Given the description of an element on the screen output the (x, y) to click on. 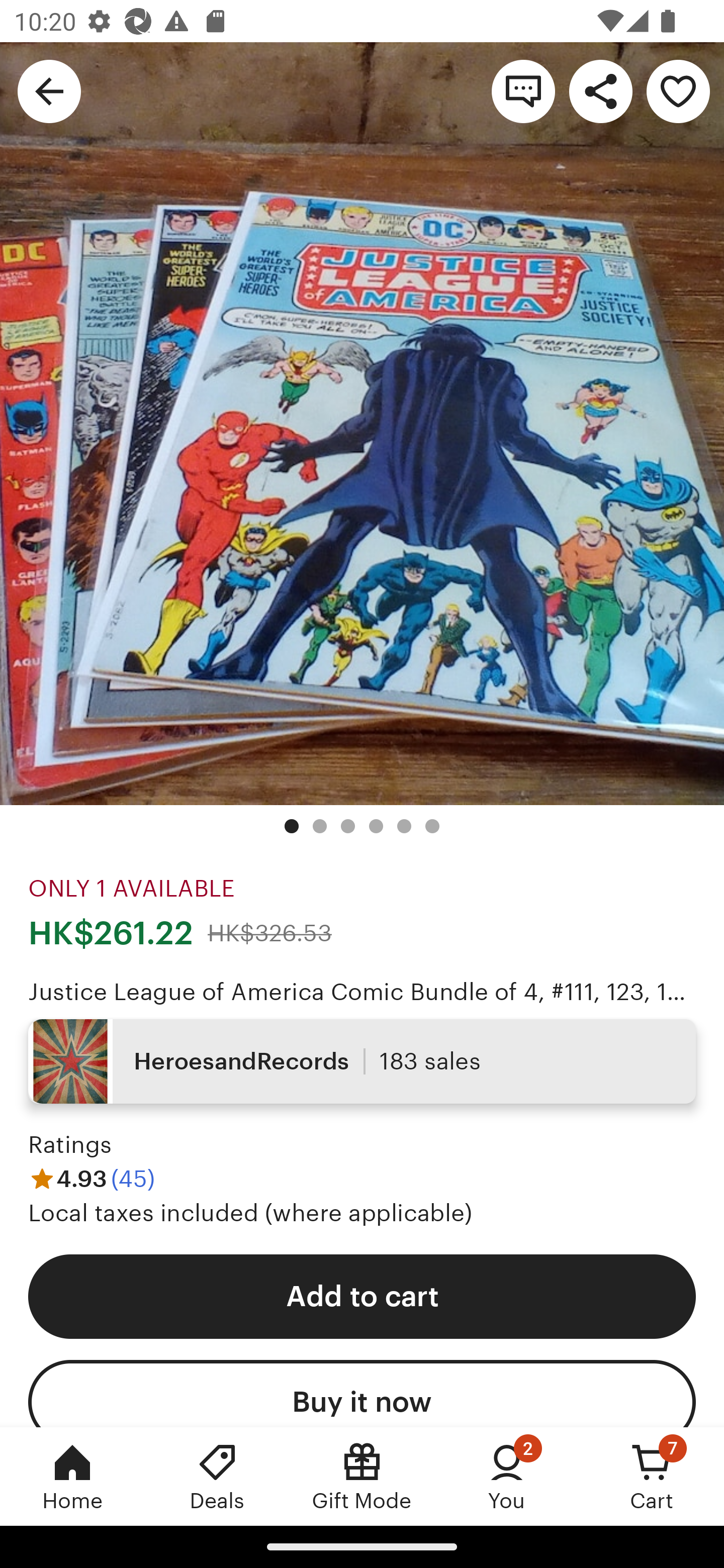
Navigate up (49, 90)
Contact shop (523, 90)
Share (600, 90)
HeroesandRecords 183 sales (361, 1061)
Ratings (70, 1144)
4.93 (45) (91, 1179)
Add to cart (361, 1296)
Buy it now (361, 1392)
Deals (216, 1475)
Gift Mode (361, 1475)
You, 2 new notifications You (506, 1475)
Cart, 7 new notifications Cart (651, 1475)
